Given the description of an element on the screen output the (x, y) to click on. 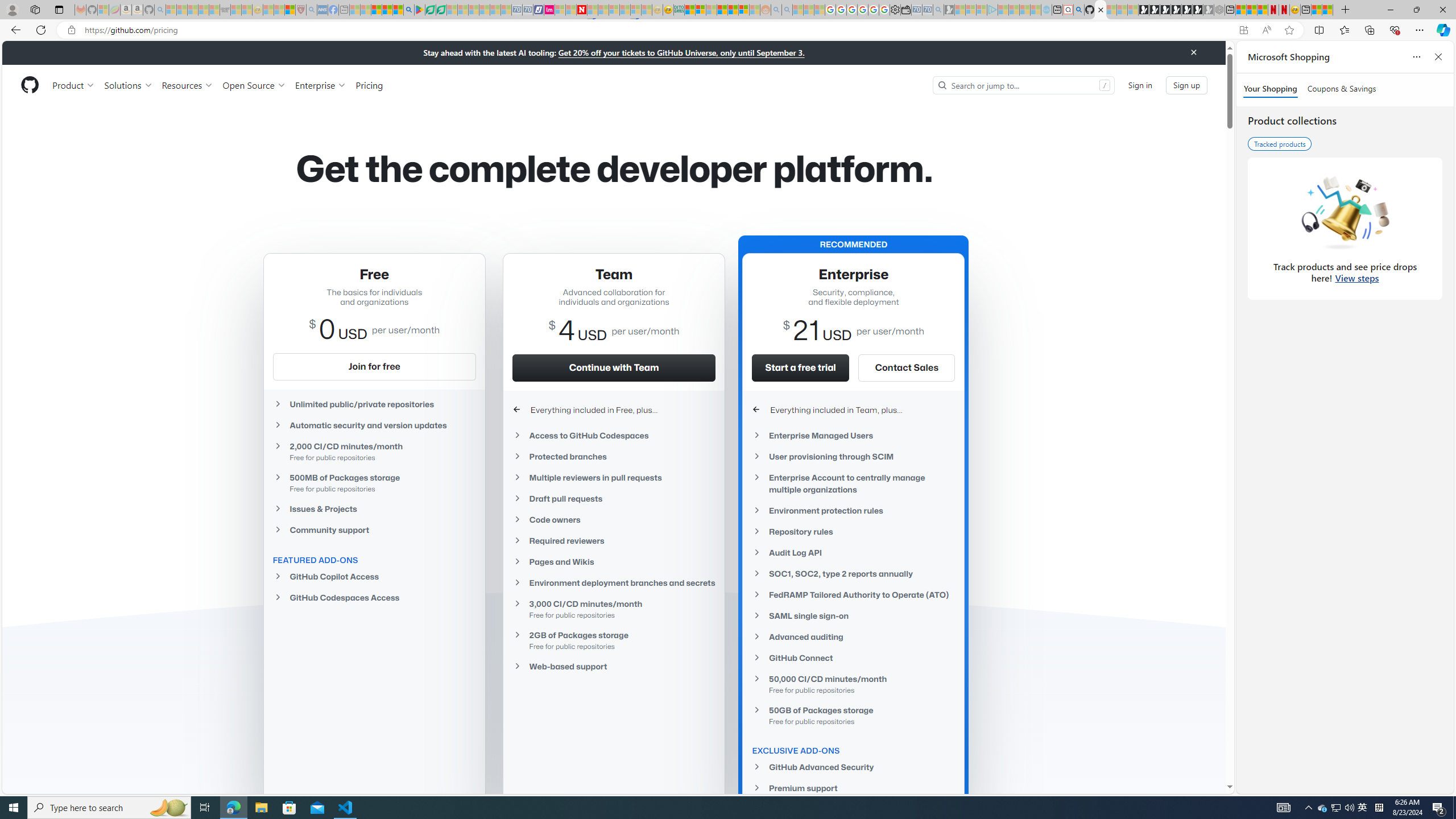
GitHub Codespaces Access (374, 597)
SOC1, SOC2, type 2 reports annually (853, 573)
2GB of Packages storage Free for public repositories (614, 640)
Latest Politics News & Archive | Newsweek.com (582, 9)
Pages and Wikis (614, 561)
50,000 CI/CD minutes/month Free for public repositories (853, 684)
Pets - MSN (387, 9)
